Given the description of an element on the screen output the (x, y) to click on. 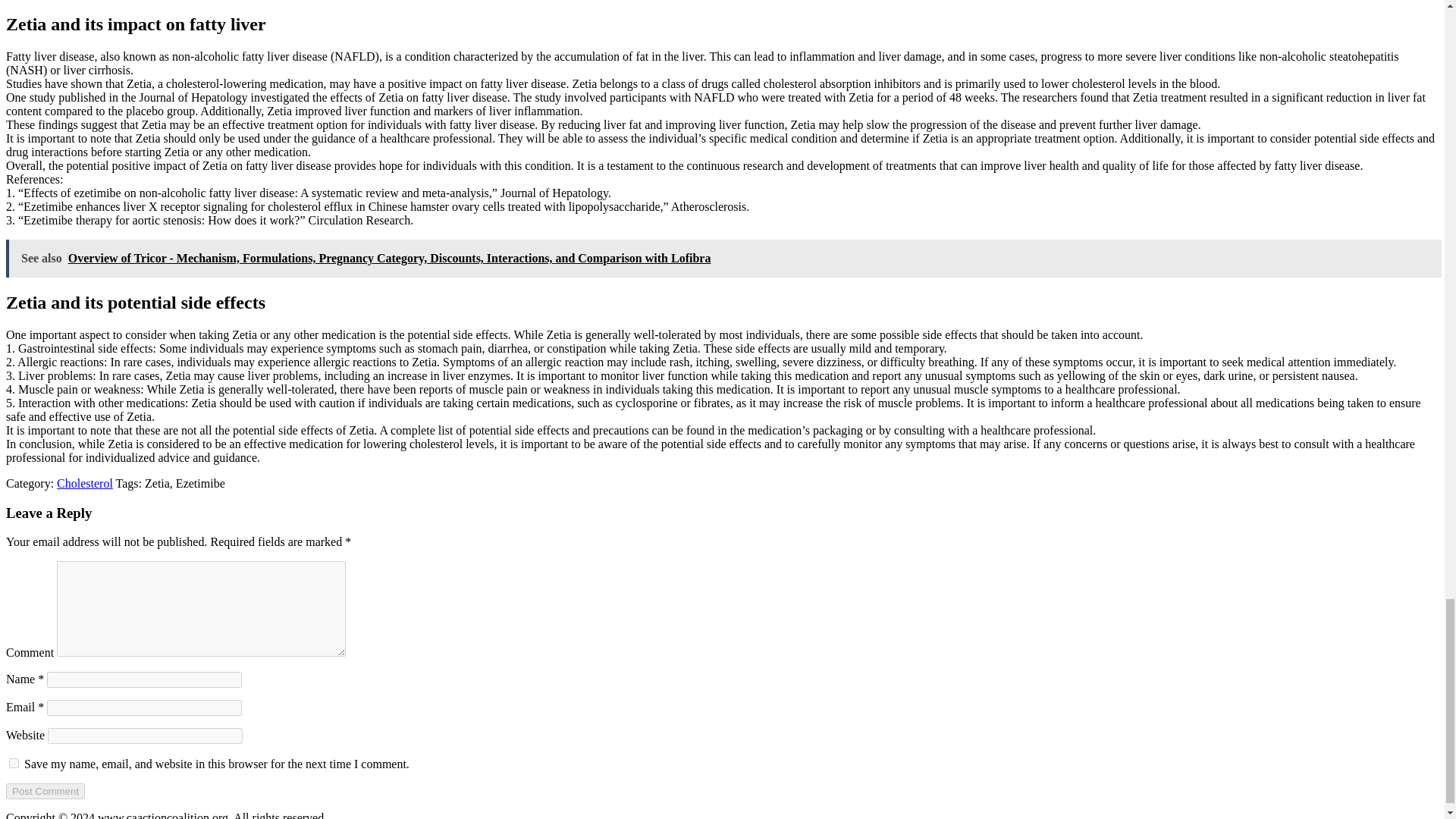
Post Comment (44, 790)
yes (13, 763)
Cholesterol (84, 482)
Post Comment (44, 790)
